Given the description of an element on the screen output the (x, y) to click on. 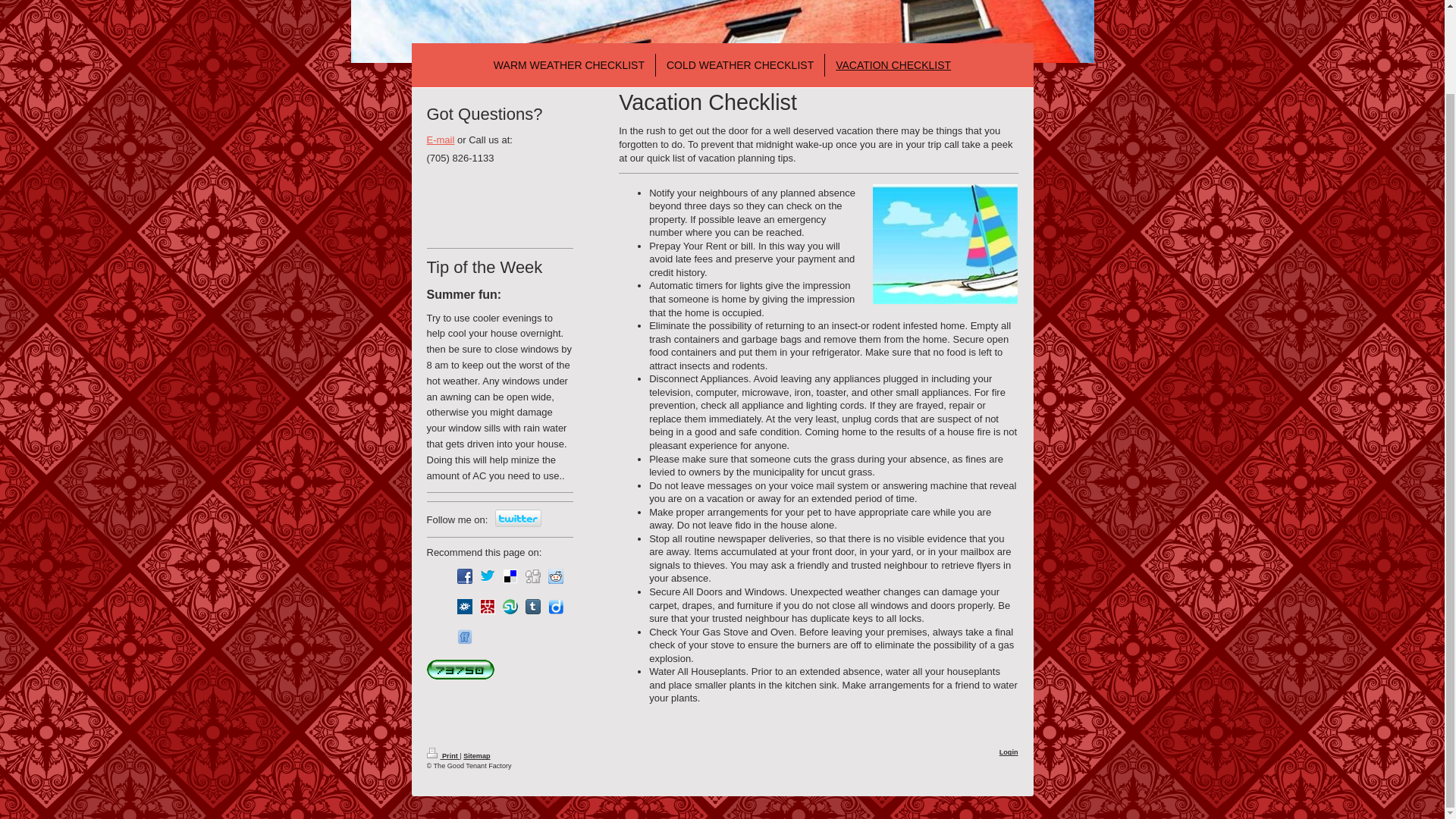
Folkd (464, 606)
Facebook (464, 575)
Login (1007, 751)
Digg (532, 575)
Delicious (509, 575)
FriendFeed (464, 636)
Reddit (554, 575)
Stumble Upon (509, 606)
WARM WEATHER CHECKLIST (569, 65)
Sitemap (476, 756)
E-mail (440, 139)
Diigo (554, 606)
Twitter (487, 575)
Mister Wong (487, 606)
Print (443, 756)
